Given the description of an element on the screen output the (x, y) to click on. 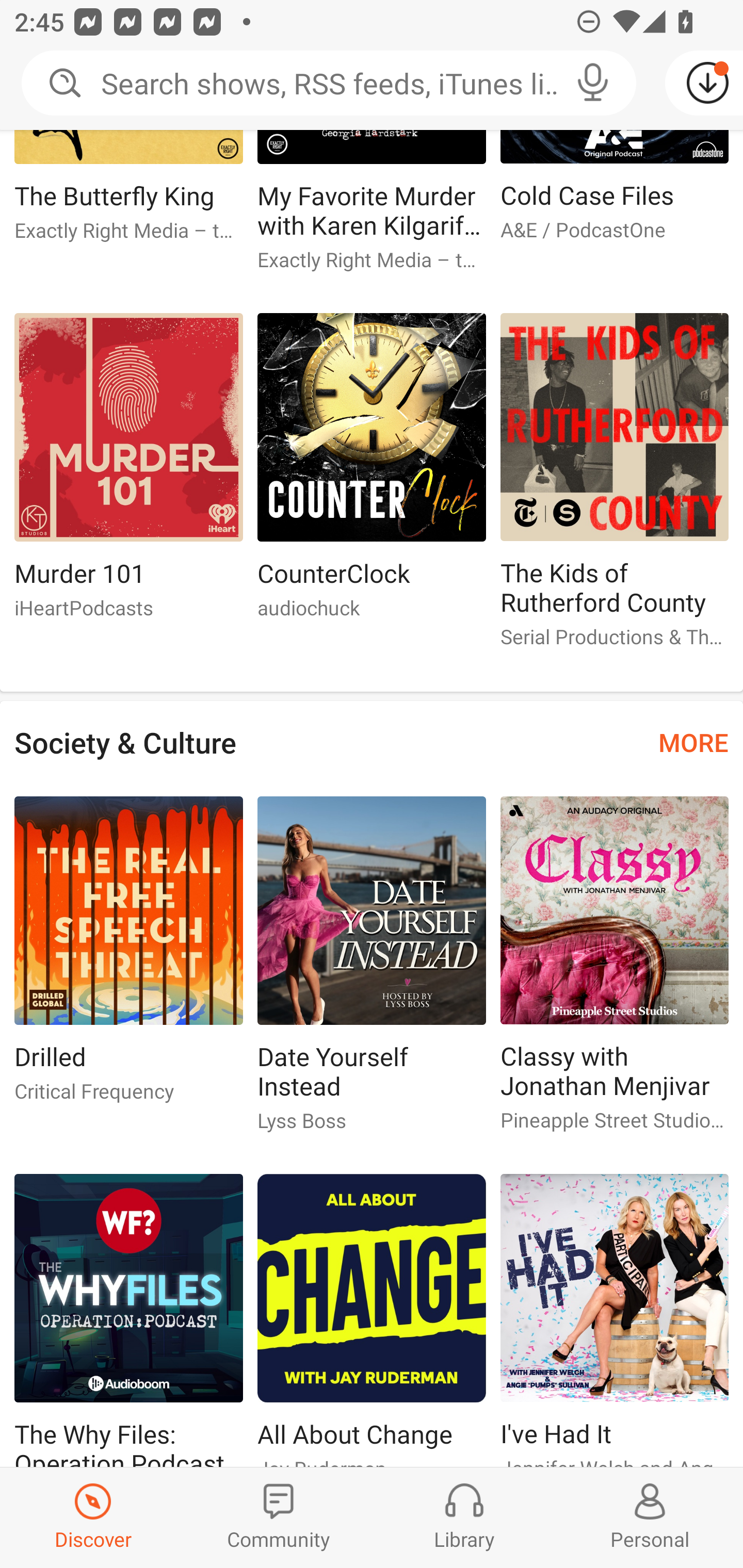
Murder 101 Murder 101 iHeartPodcasts (128, 474)
CounterClock CounterClock audiochuck (371, 474)
MORE (693, 741)
Drilled Drilled Critical Frequency (128, 956)
The Why Files: Operation Podcast (128, 1320)
All About Change All About Change Jay Ruderman (371, 1320)
Discover (92, 1517)
Community (278, 1517)
Library (464, 1517)
Profiles and Settings Personal (650, 1517)
